Given the description of an element on the screen output the (x, y) to click on. 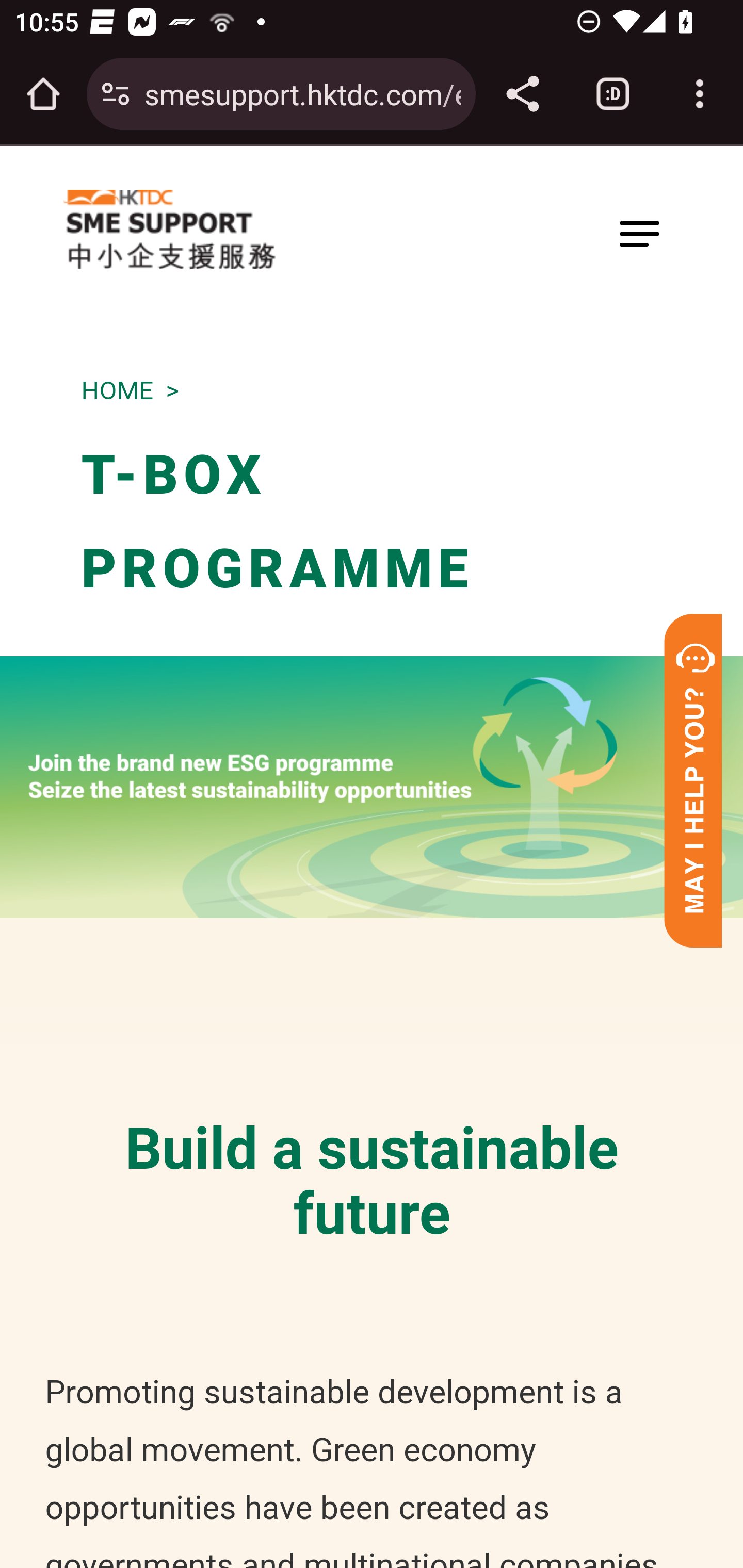
Open the home page (43, 93)
Connection is secure (115, 93)
Share (522, 93)
Switch or close tabs (612, 93)
Customize and control Google Chrome (699, 93)
HKTDC SME Support (169, 229)
Toggle navigation (638, 233)
HOME (117, 390)
